Given the description of an element on the screen output the (x, y) to click on. 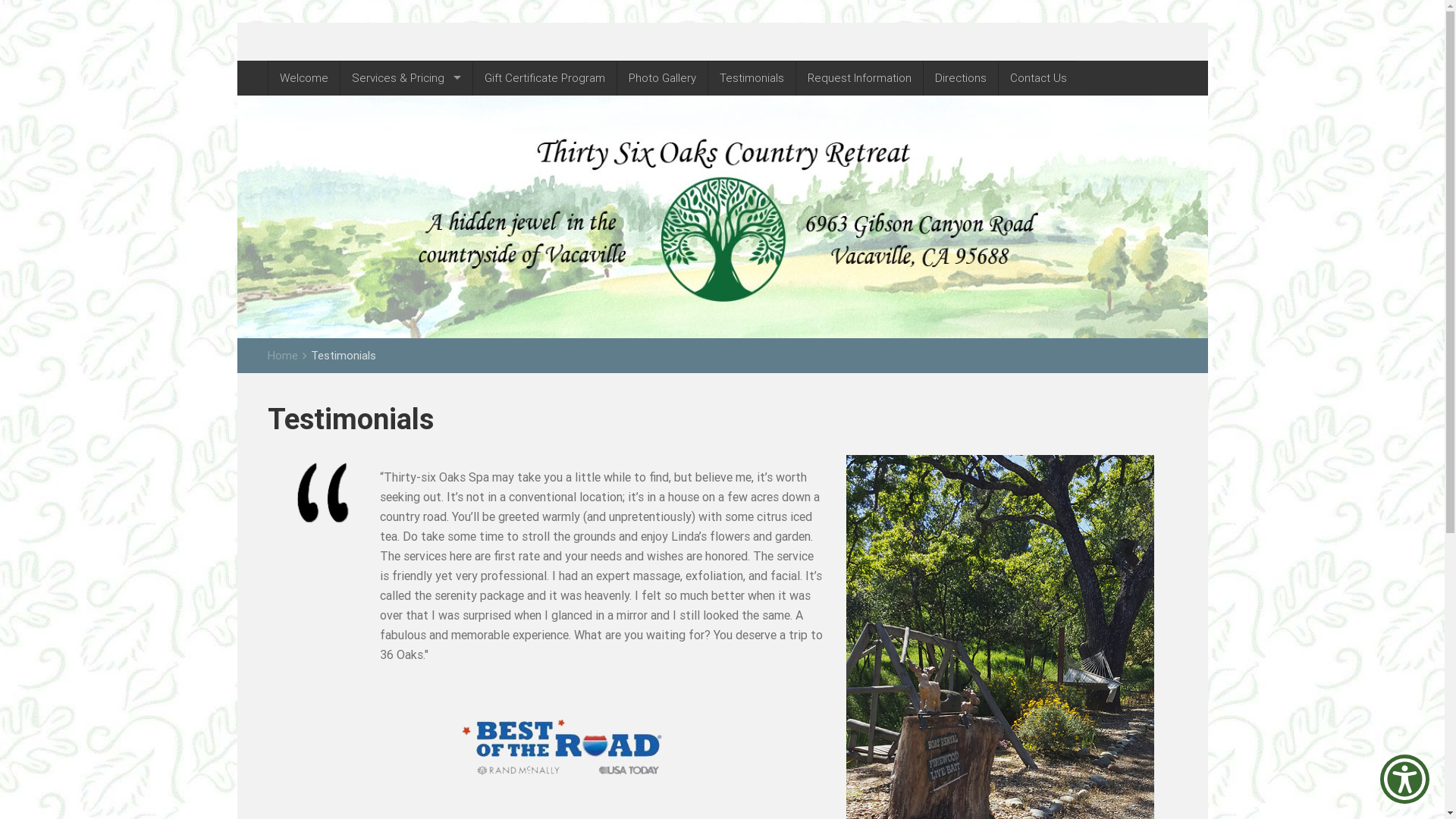
Gift Certificate Program Element type: text (544, 77)
Testimonials Element type: text (751, 77)
Directions Element type: text (959, 77)
Contact Us Element type: text (1037, 77)
Services & Pricing Element type: text (406, 77)
Home Element type: text (281, 355)
Photo Gallery Element type: text (661, 77)
Request Information Element type: text (858, 77)
Welcome Element type: text (302, 77)
